Given the description of an element on the screen output the (x, y) to click on. 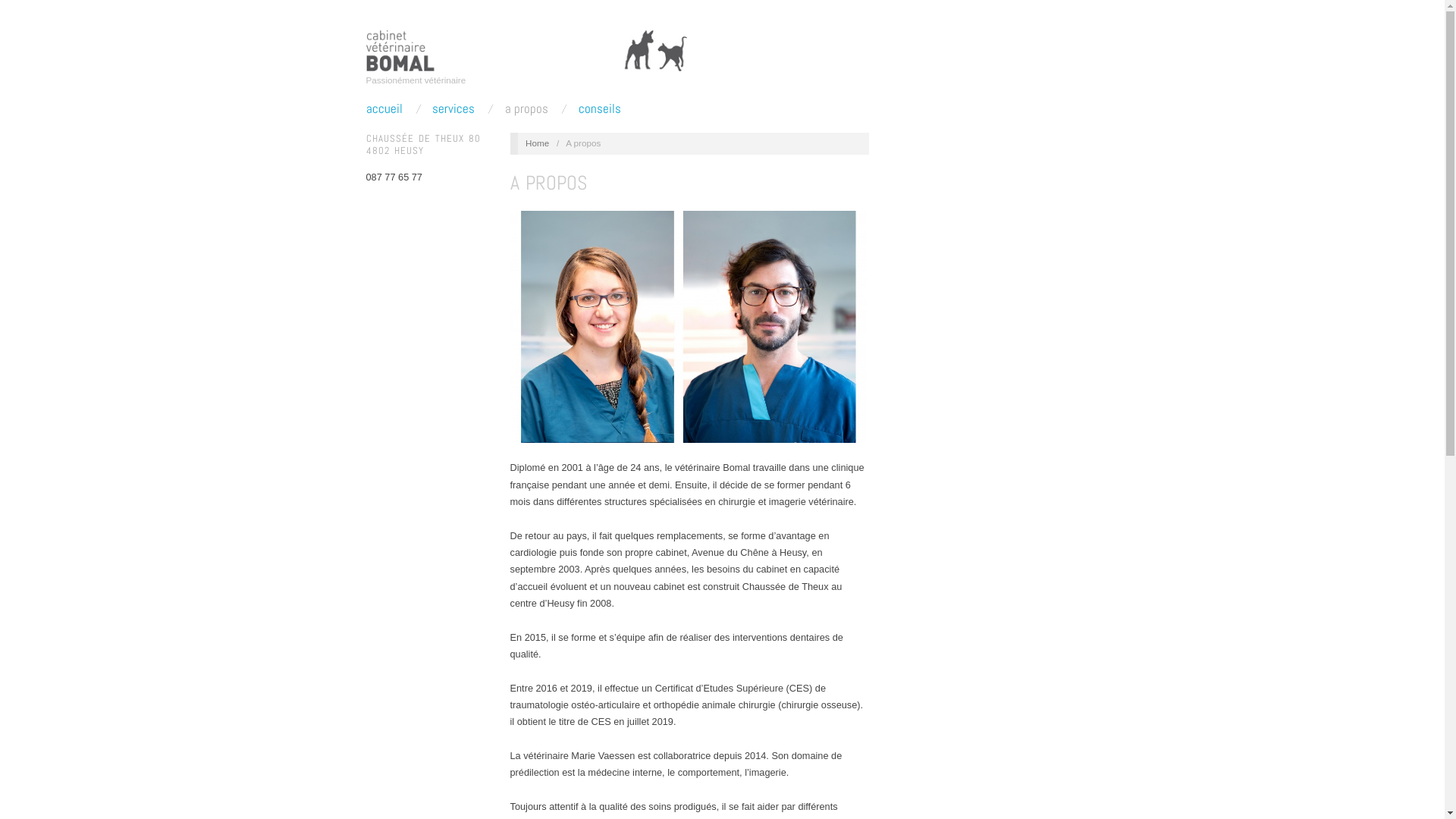
accueil Element type: text (383, 108)
a propos Element type: text (526, 108)
services Element type: text (453, 108)
Home Element type: text (537, 142)
conseils Element type: text (599, 108)
